Given the description of an element on the screen output the (x, y) to click on. 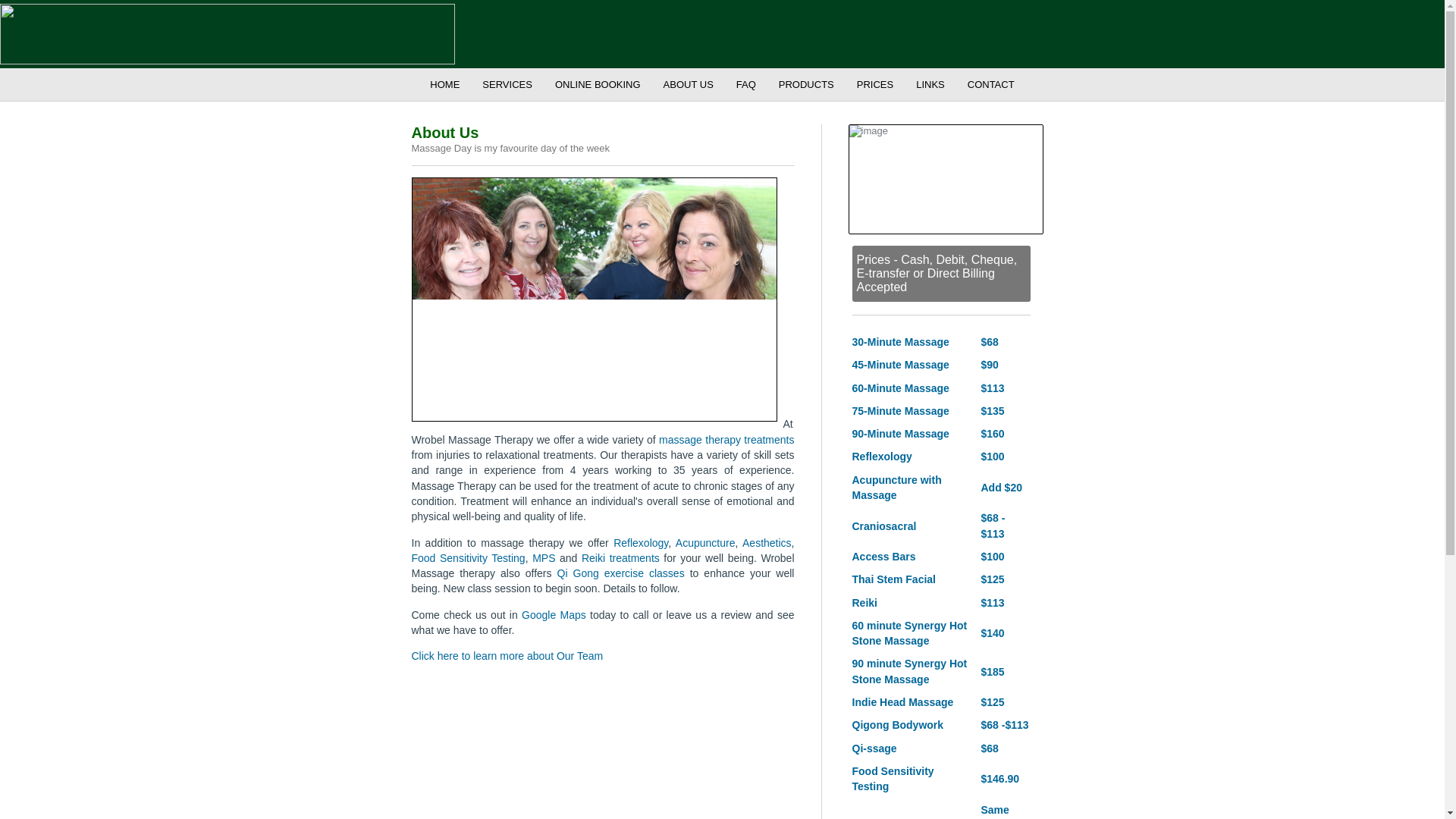
massage therapy treatments (726, 439)
Click here to learn more about Our Team (506, 655)
Access Bars (883, 556)
PRICES (874, 83)
ABOUT US (688, 83)
Aesthetics (767, 542)
60-Minute Massage (900, 387)
90-Minute Massage (900, 433)
ONLINE BOOKING (597, 83)
Acupuncture with Massage (896, 487)
30-Minute Massage (900, 341)
Acupuncture (705, 542)
Craniosacral (884, 526)
45-Minute Massage (900, 364)
HOME (444, 83)
